Given the description of an element on the screen output the (x, y) to click on. 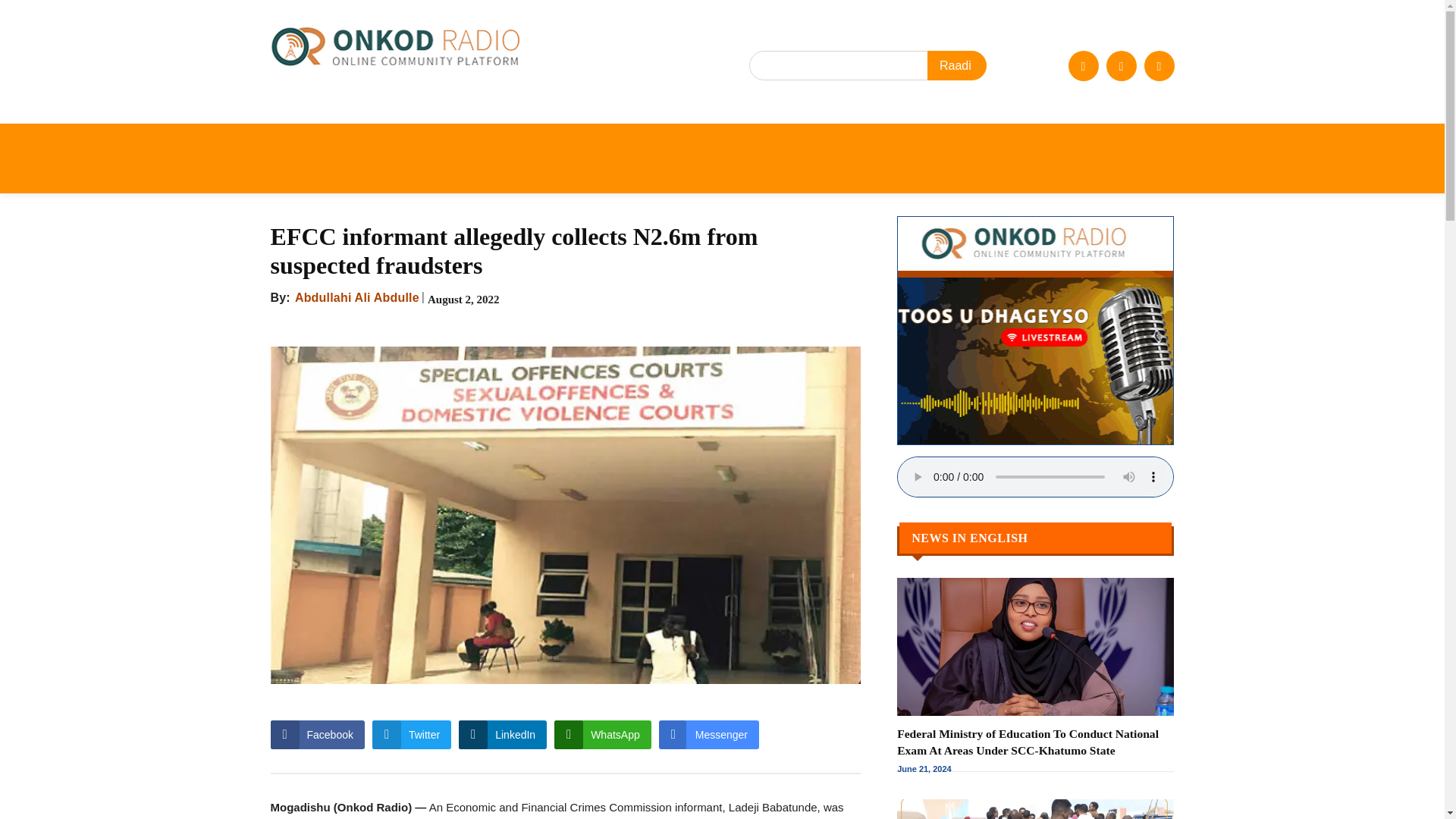
Twitter (411, 734)
Abdullahi Ali Abdulle (357, 297)
Raadi (957, 65)
Messenger (708, 734)
Facebook (1082, 64)
WhatsApp (602, 734)
LinkedIn (502, 734)
Twitter (1120, 64)
